Given the description of an element on the screen output the (x, y) to click on. 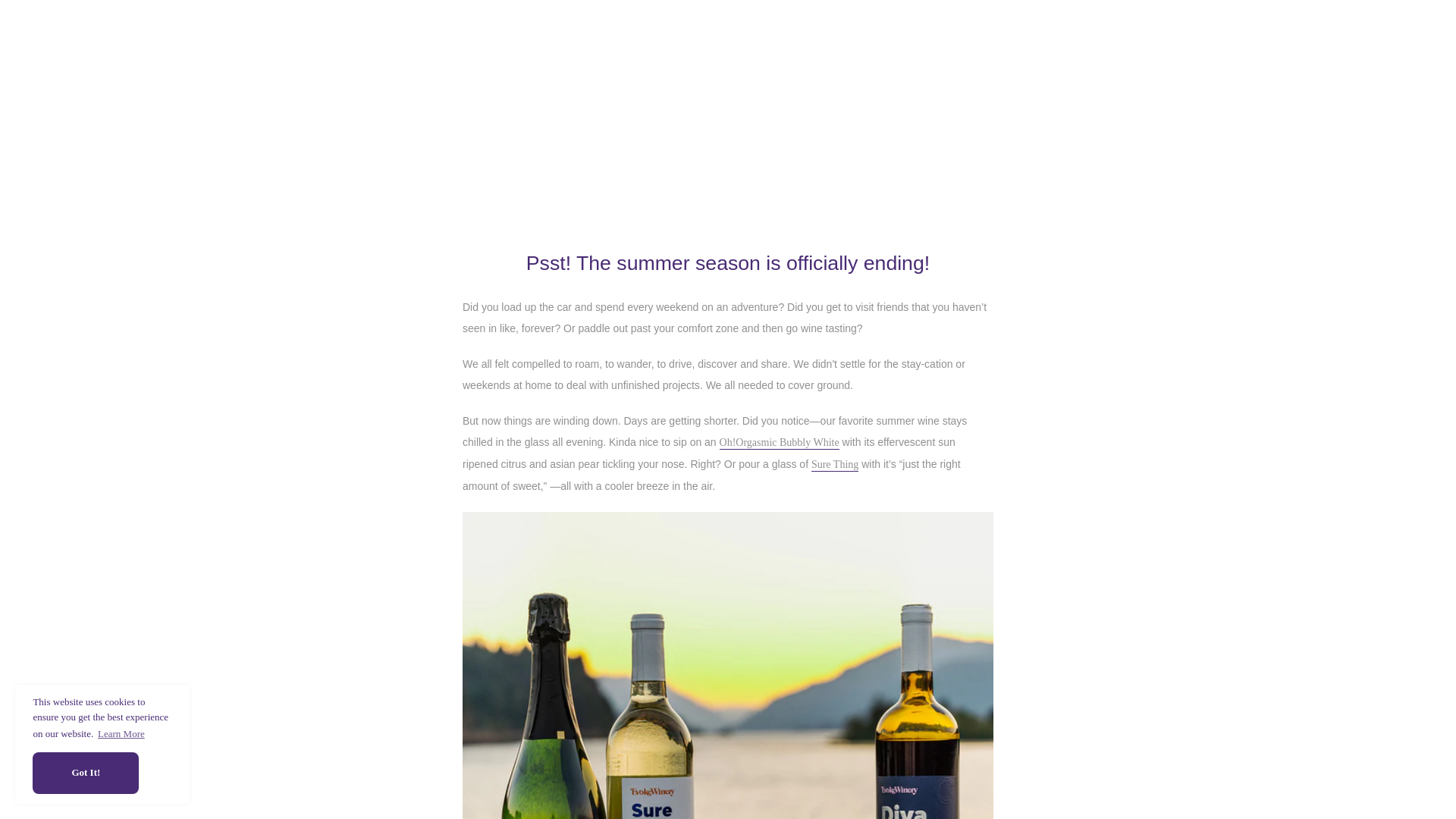
Oh!Orgasmic Bubbly White (779, 442)
Sure Thing (834, 464)
